Given the description of an element on the screen output the (x, y) to click on. 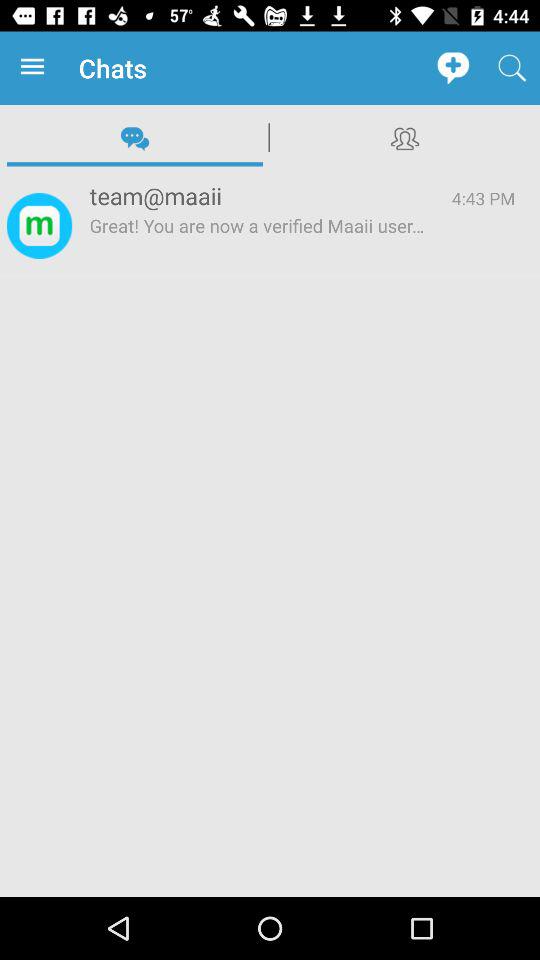
scroll to the team@maaii icon (258, 195)
